Given the description of an element on the screen output the (x, y) to click on. 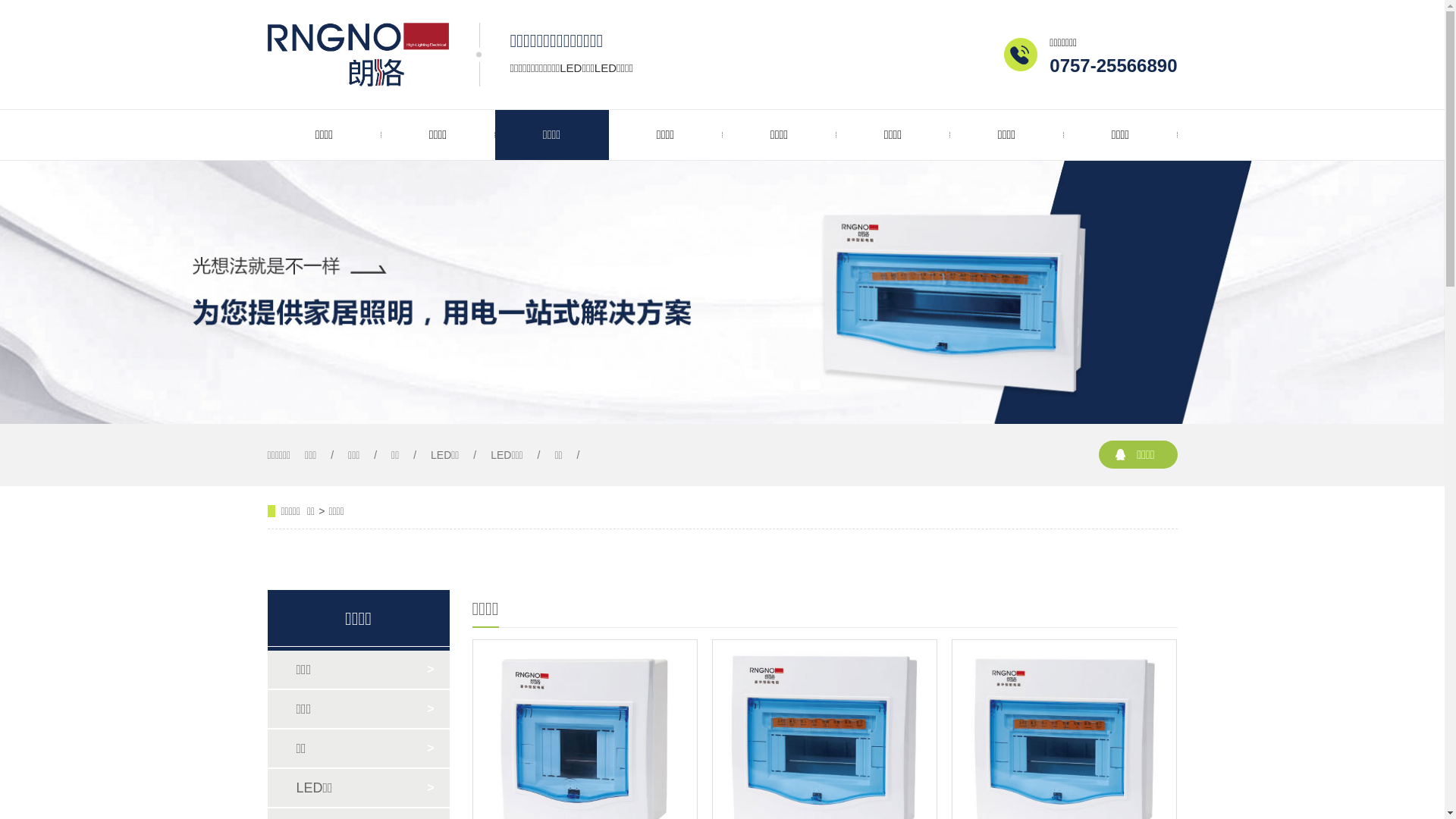
0757-25566890 Element type: text (1112, 65)
